Given the description of an element on the screen output the (x, y) to click on. 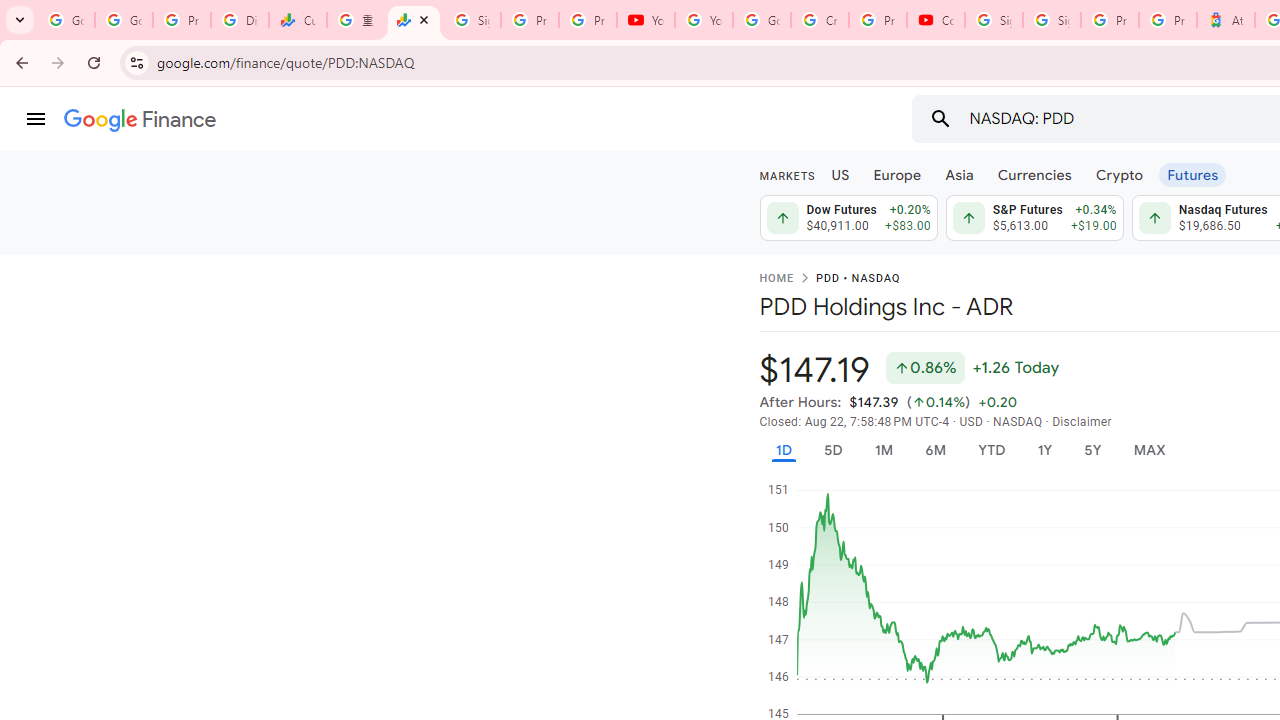
Close (423, 19)
6M (934, 449)
1M (882, 449)
Privacy Checkup (587, 20)
Europe (897, 174)
PDD Holdings Inc - ADR (PDD) Price & News - Google Finance (413, 20)
YTD (991, 449)
S&P Futures $5,613.00 $5,612.25 Up by 0.34% +$19.00 +$18.25 (1033, 218)
Currencies (1034, 174)
Create your Google Account (819, 20)
HOME (776, 279)
